Given the description of an element on the screen output the (x, y) to click on. 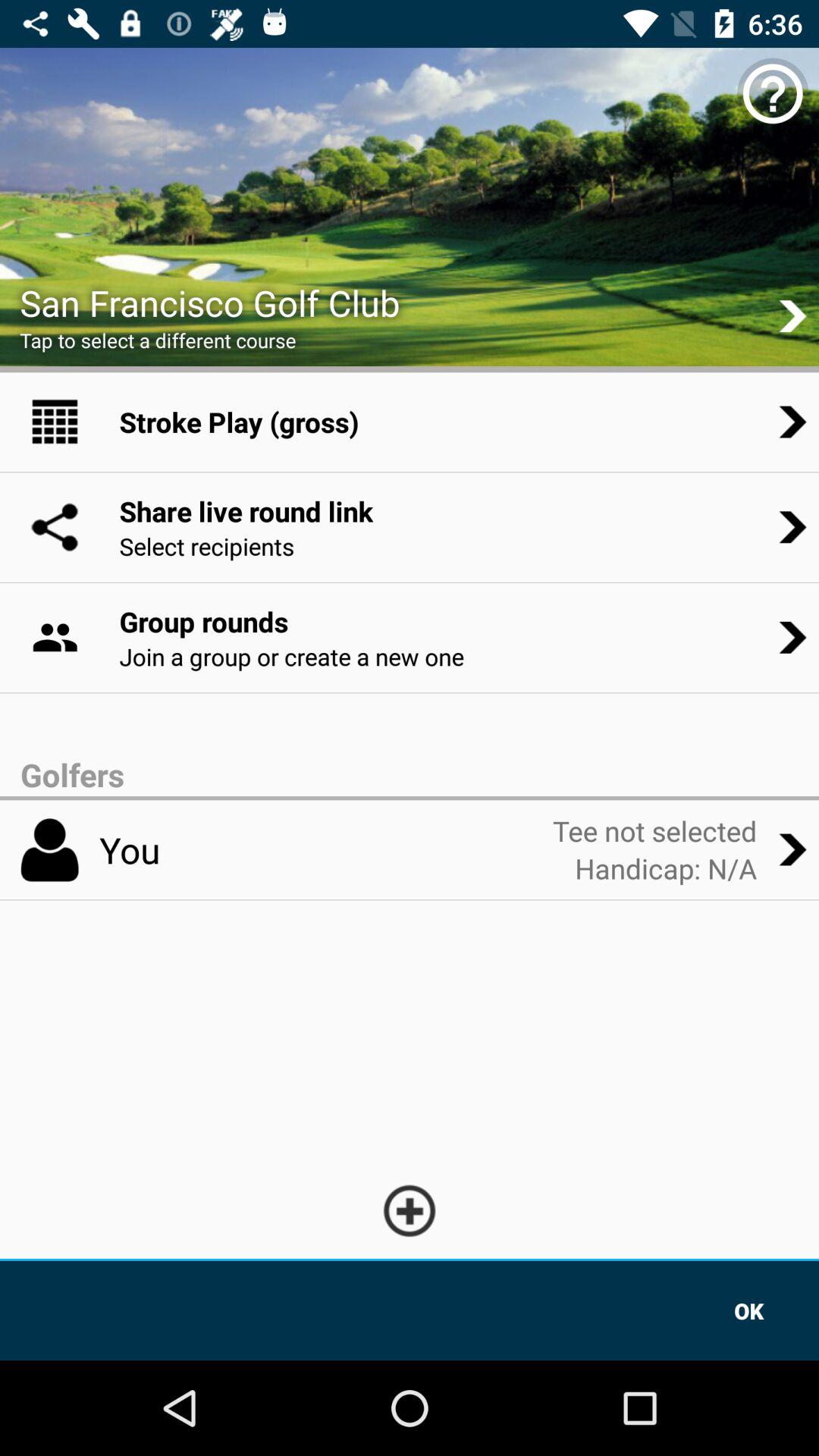
help button (772, 93)
